Given the description of an element on the screen output the (x, y) to click on. 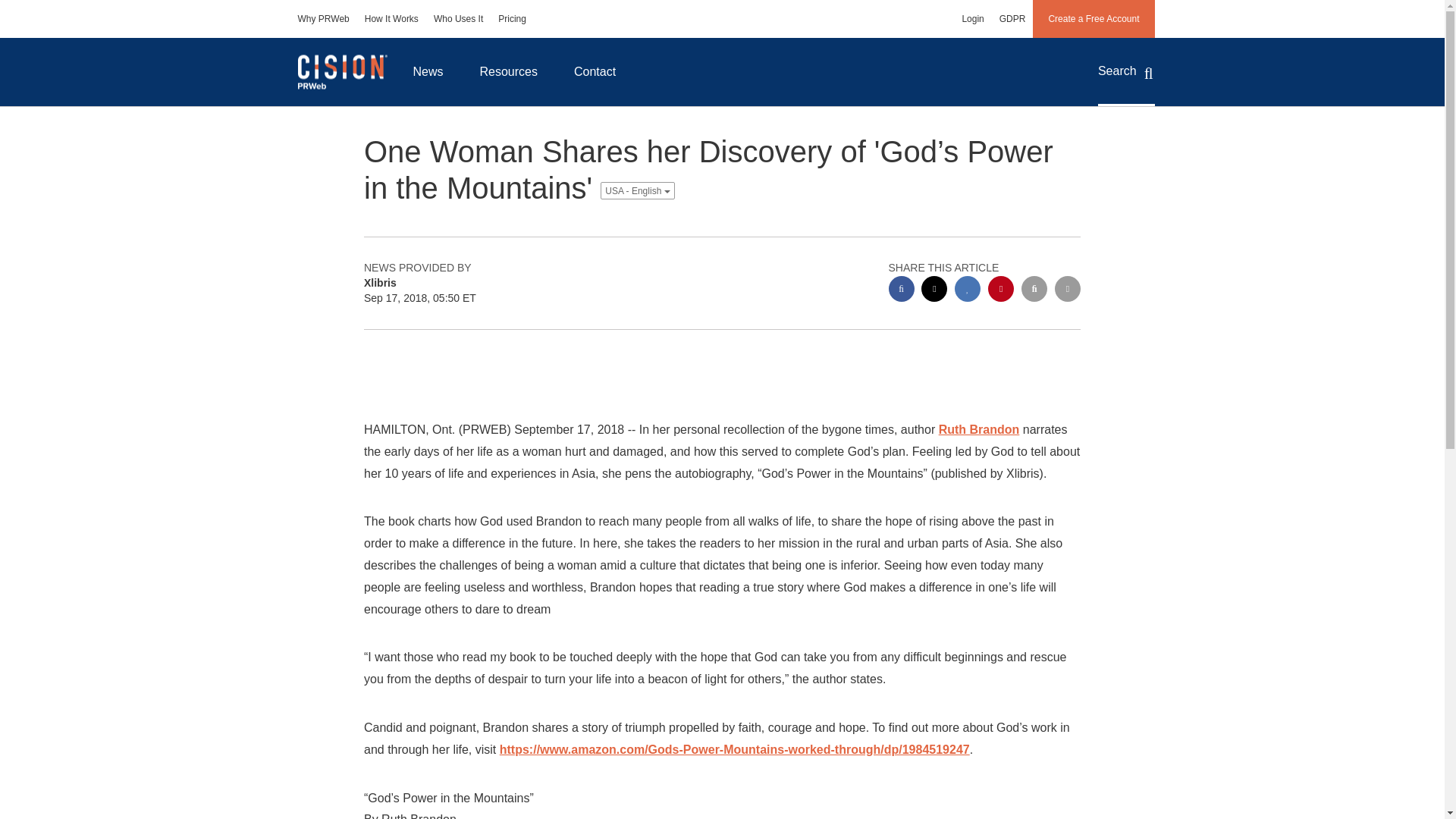
News (427, 71)
GDPR (1012, 18)
Who Uses It (458, 18)
Login (972, 18)
Create a Free Account (1093, 18)
Resources (508, 71)
How It Works (391, 18)
Pricing (512, 18)
Contact (594, 71)
Why PRWeb (322, 18)
